Given the description of an element on the screen output the (x, y) to click on. 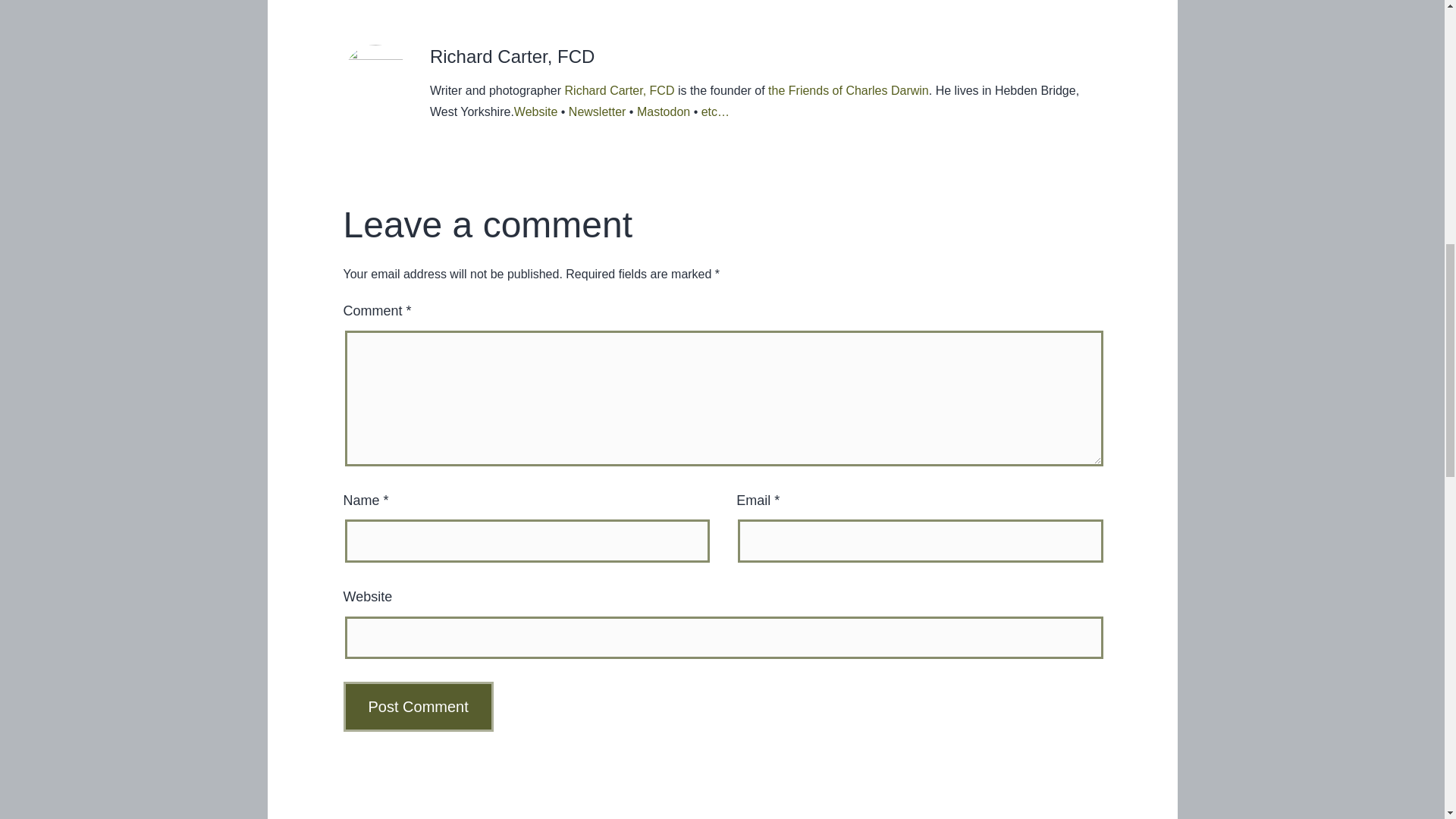
the Friends of Charles Darwin (848, 90)
Post Comment (417, 706)
Richard Carter, FCD (993, 816)
About Richard (619, 90)
Mastodon (619, 90)
Post Comment (663, 111)
Newsletter (417, 706)
Website (597, 111)
